Given the description of an element on the screen output the (x, y) to click on. 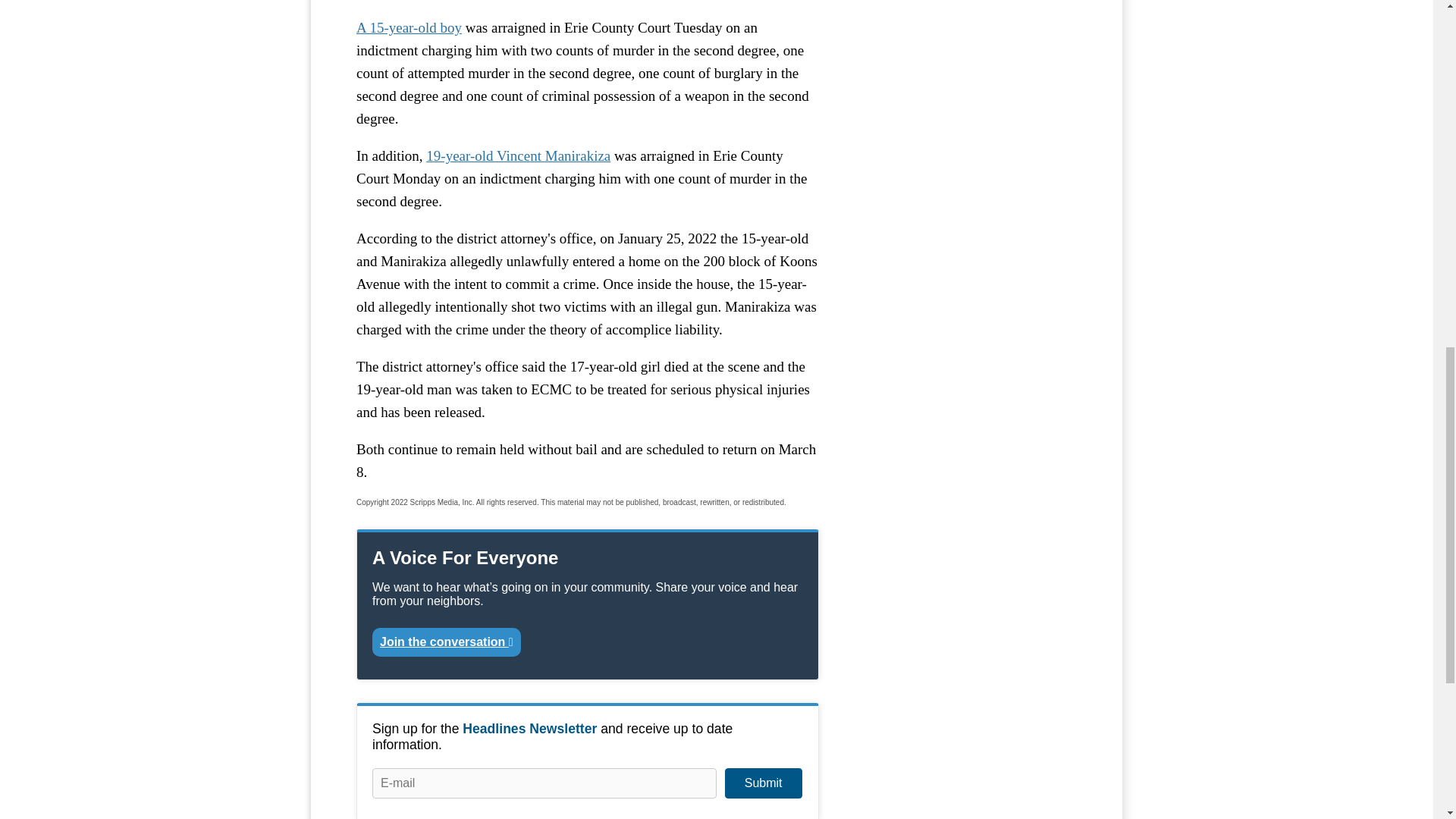
Submit (763, 783)
